Given the description of an element on the screen output the (x, y) to click on. 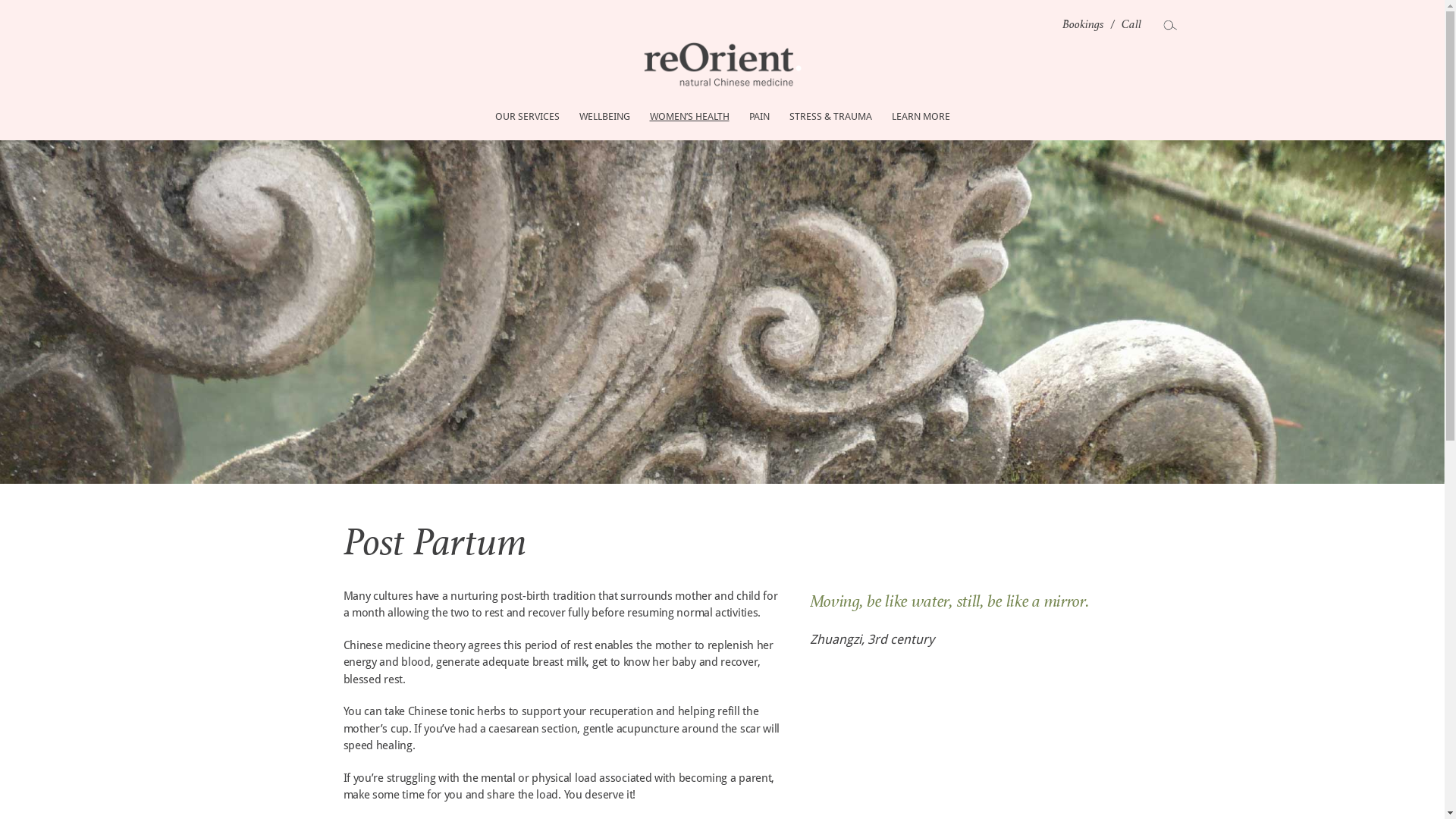
WELLBEING Element type: text (603, 116)
LEARN MORE Element type: text (920, 116)
Bookings Element type: text (1082, 24)
Call Element type: text (1130, 24)
OUR SERVICES Element type: text (527, 116)
STRESS & TRAUMA Element type: text (830, 116)
PAIN Element type: text (758, 116)
